Given the description of an element on the screen output the (x, y) to click on. 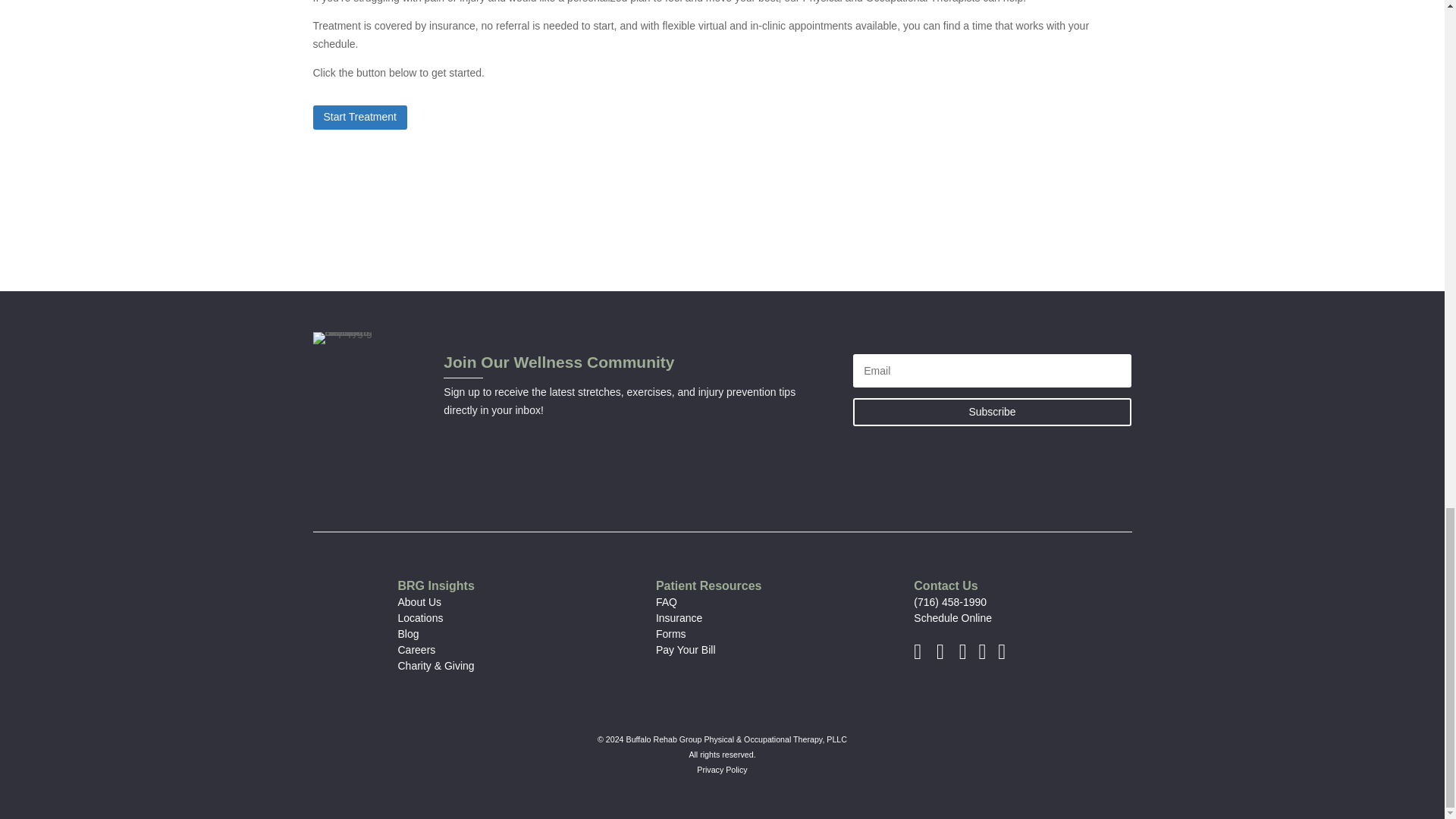
Forms (670, 633)
Careers (416, 649)
Pay Your Bill (686, 649)
brg-logo-white-1 (346, 337)
Insurance (678, 617)
Locations (419, 617)
Privacy Policy (721, 768)
Blog (408, 633)
About Us (419, 602)
Schedule Online (952, 617)
Start Treatment (359, 117)
FAQ (666, 602)
Subscribe (992, 411)
